Given the description of an element on the screen output the (x, y) to click on. 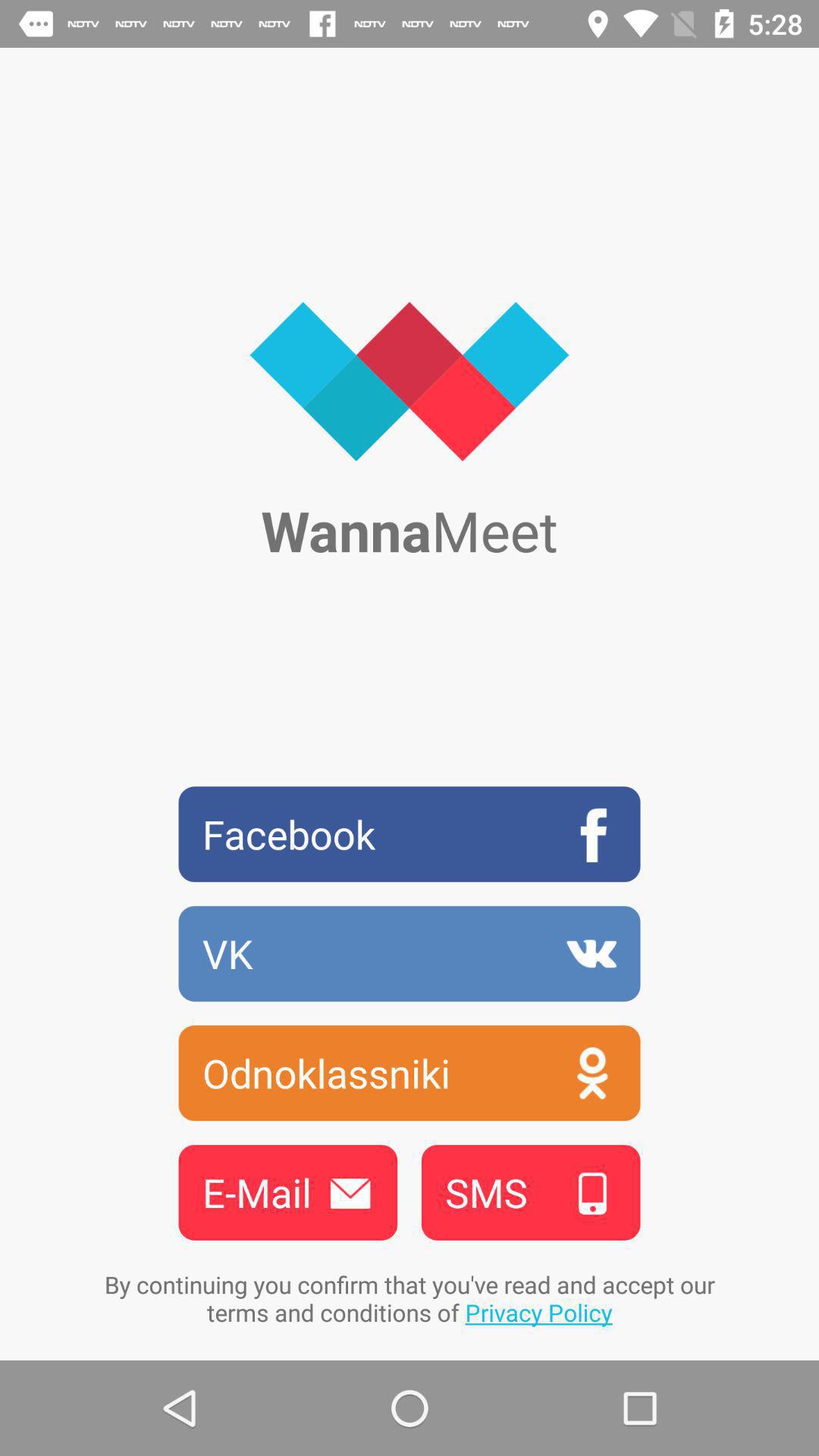
turn off the item below odnoklassniki item (287, 1192)
